Given the description of an element on the screen output the (x, y) to click on. 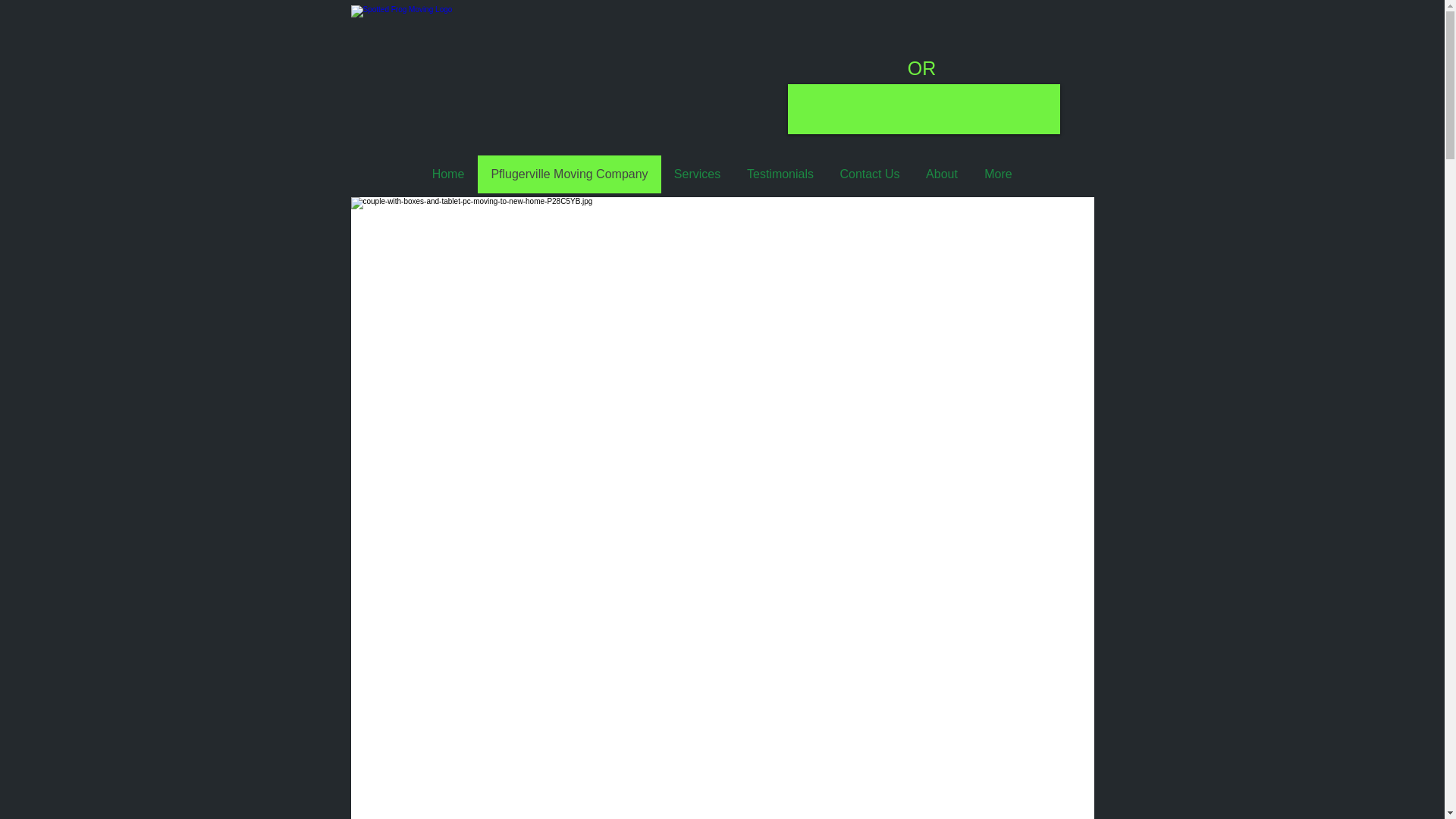
Contact Us (869, 174)
Leaps Above the Competition! (486, 73)
About (941, 174)
Testimonials (779, 174)
Home (448, 174)
Pflugerville Moving Company (569, 174)
Services (697, 174)
